Given the description of an element on the screen output the (x, y) to click on. 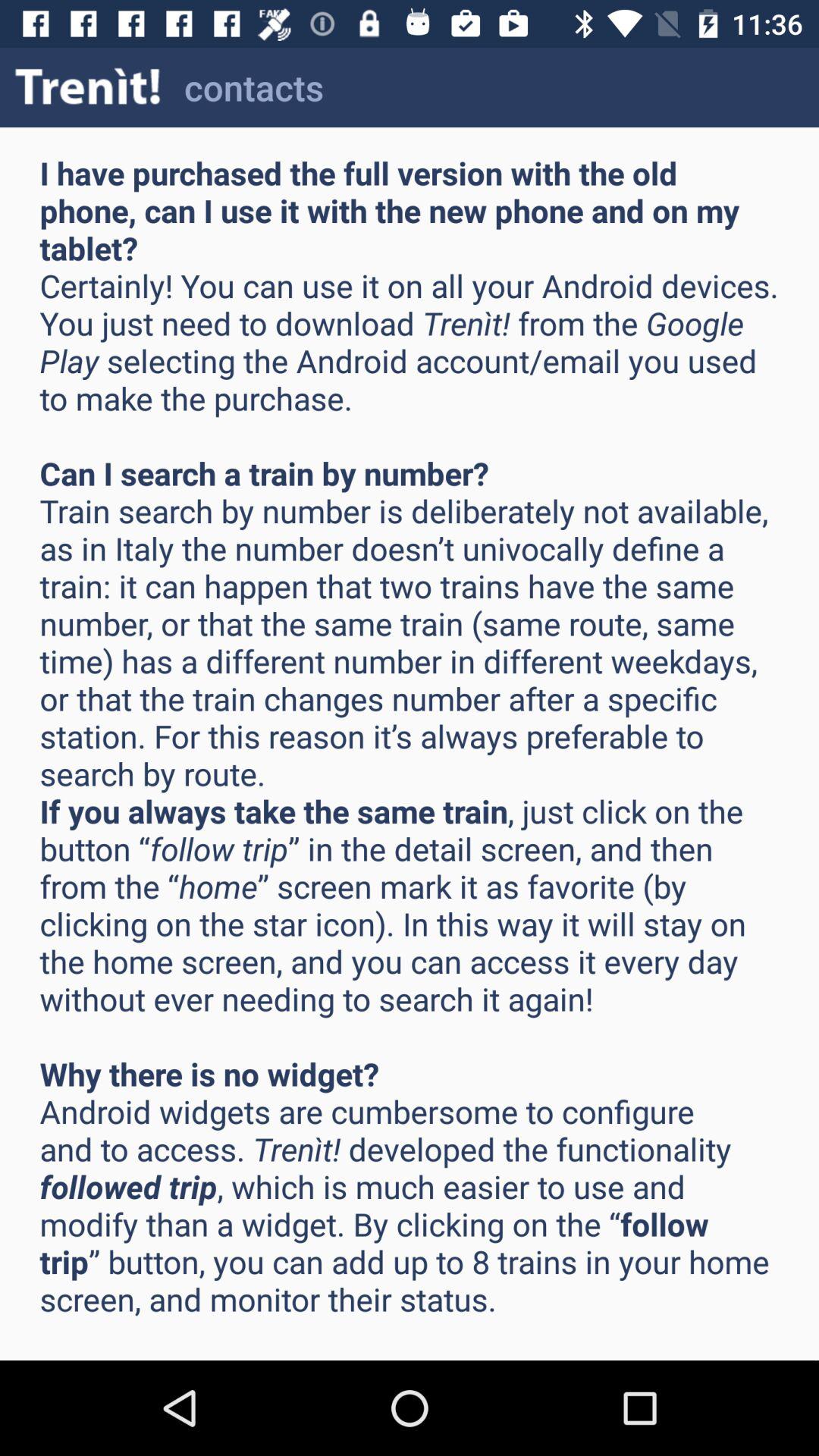
open the icon next to contacts item (88, 87)
